Given the description of an element on the screen output the (x, y) to click on. 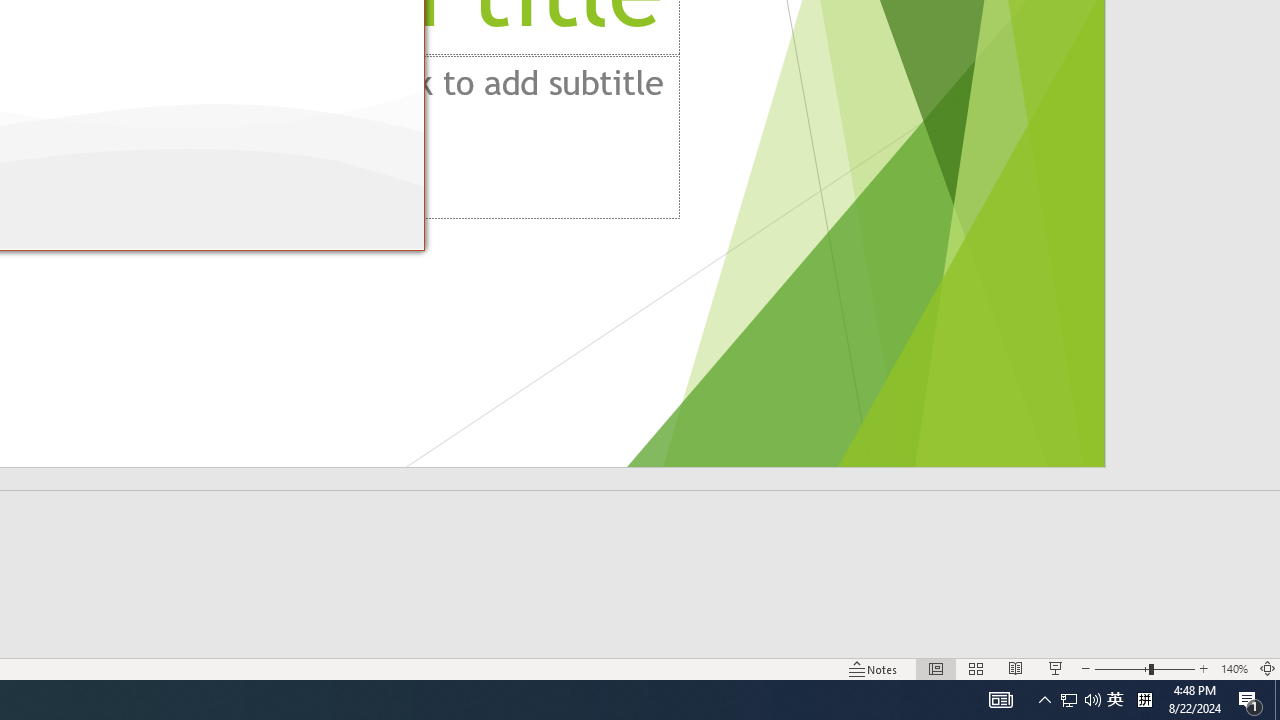
Action Center, 1 new notification (1250, 699)
Zoom 140% (1234, 668)
